Given the description of an element on the screen output the (x, y) to click on. 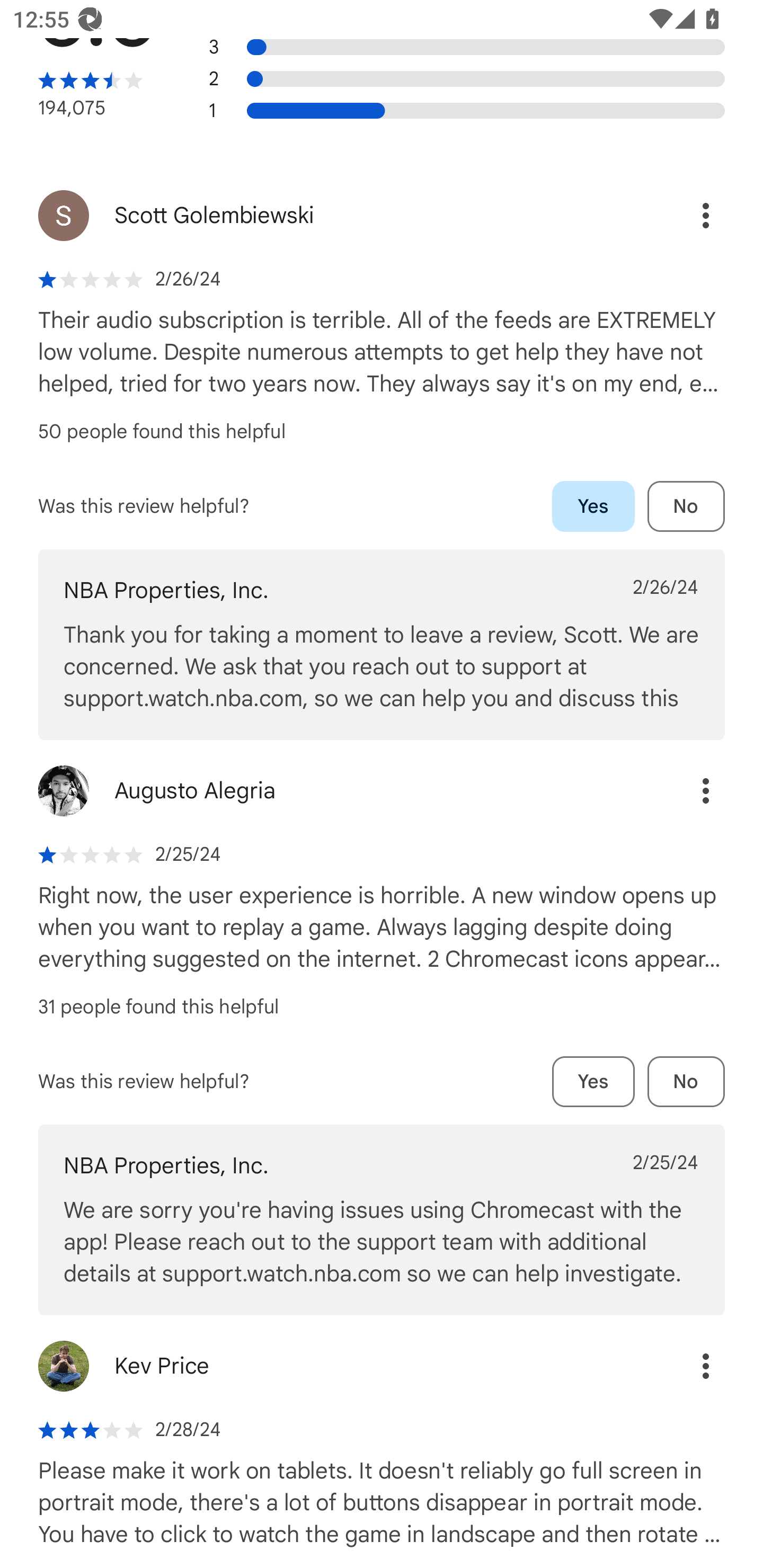
Options (686, 215)
Yes (593, 506)
No (685, 506)
Options (686, 790)
Yes (593, 1081)
No (685, 1081)
Options (686, 1366)
